Given the description of an element on the screen output the (x, y) to click on. 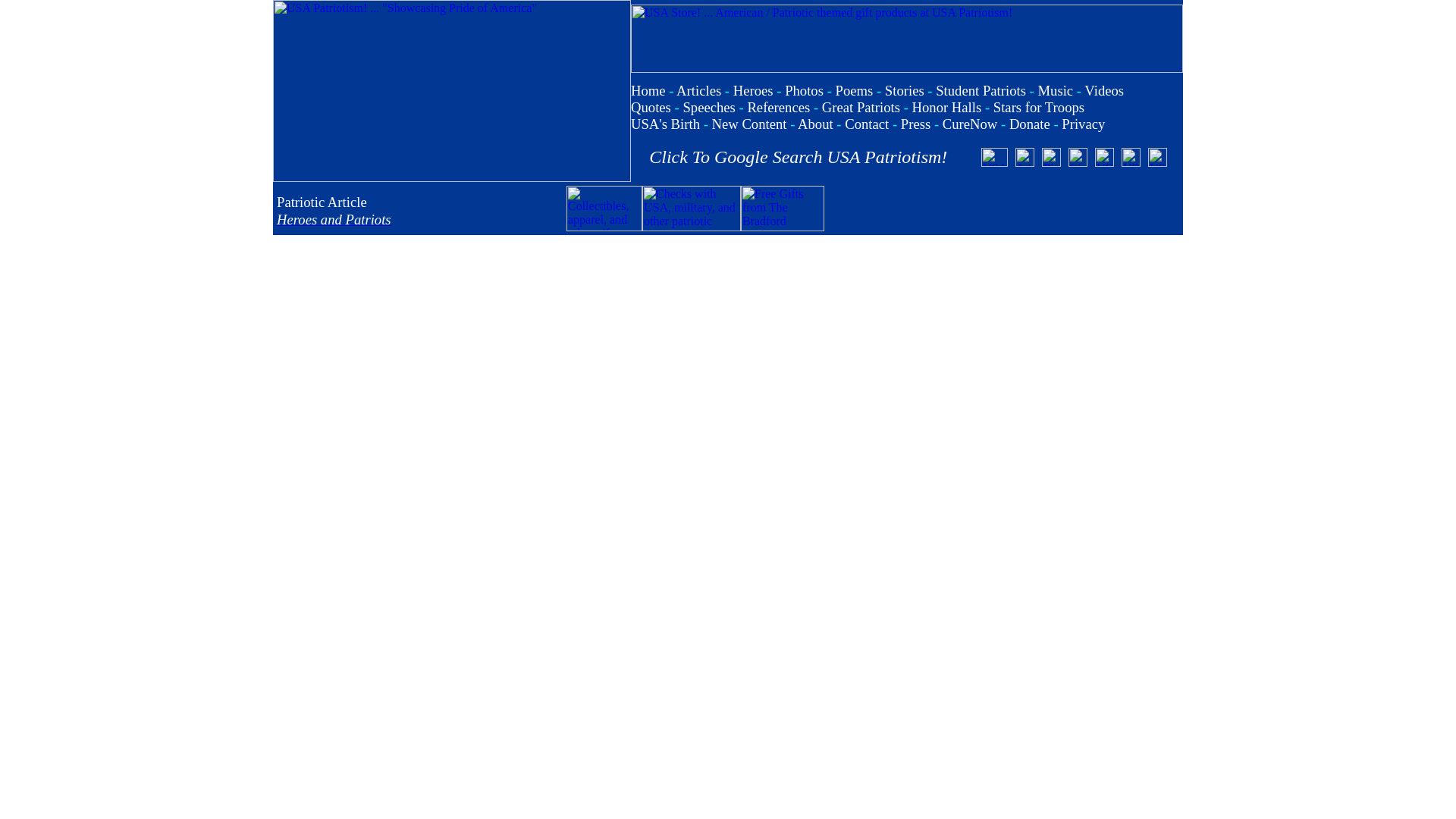
Speeches (708, 107)
Honor Halls (946, 107)
Click To Google Search USA Patriotism! (798, 157)
Privacy (1083, 123)
Contact (866, 123)
USA's Birth (665, 123)
Poems (854, 90)
Stars for Troops (1038, 107)
Music (1054, 90)
Photos (804, 90)
